Given the description of an element on the screen output the (x, y) to click on. 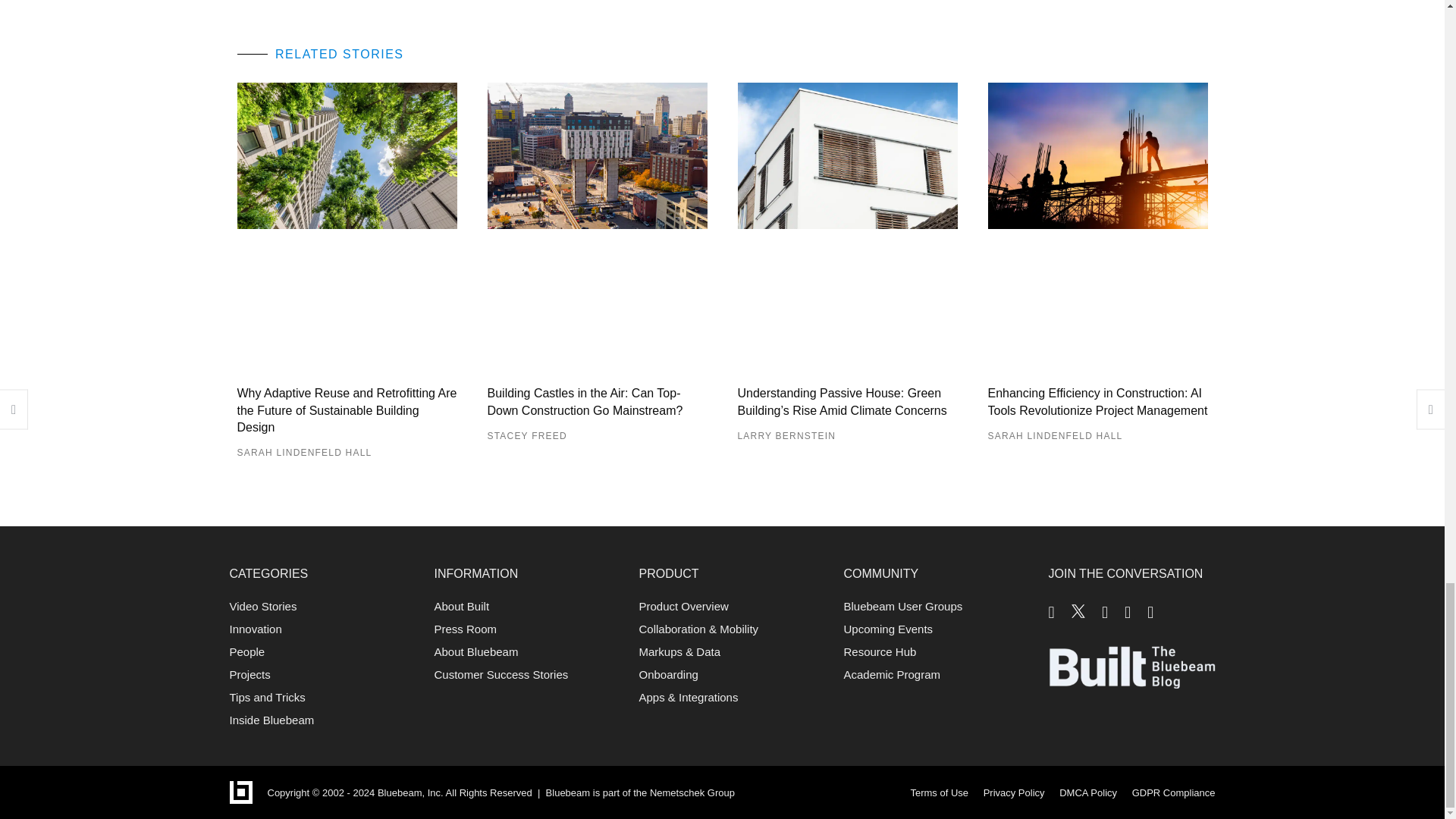
GDPR Compliance (1173, 792)
DMCA Policy (1087, 792)
Privacy Policy (1014, 792)
Terms of Use (939, 792)
